Given the description of an element on the screen output the (x, y) to click on. 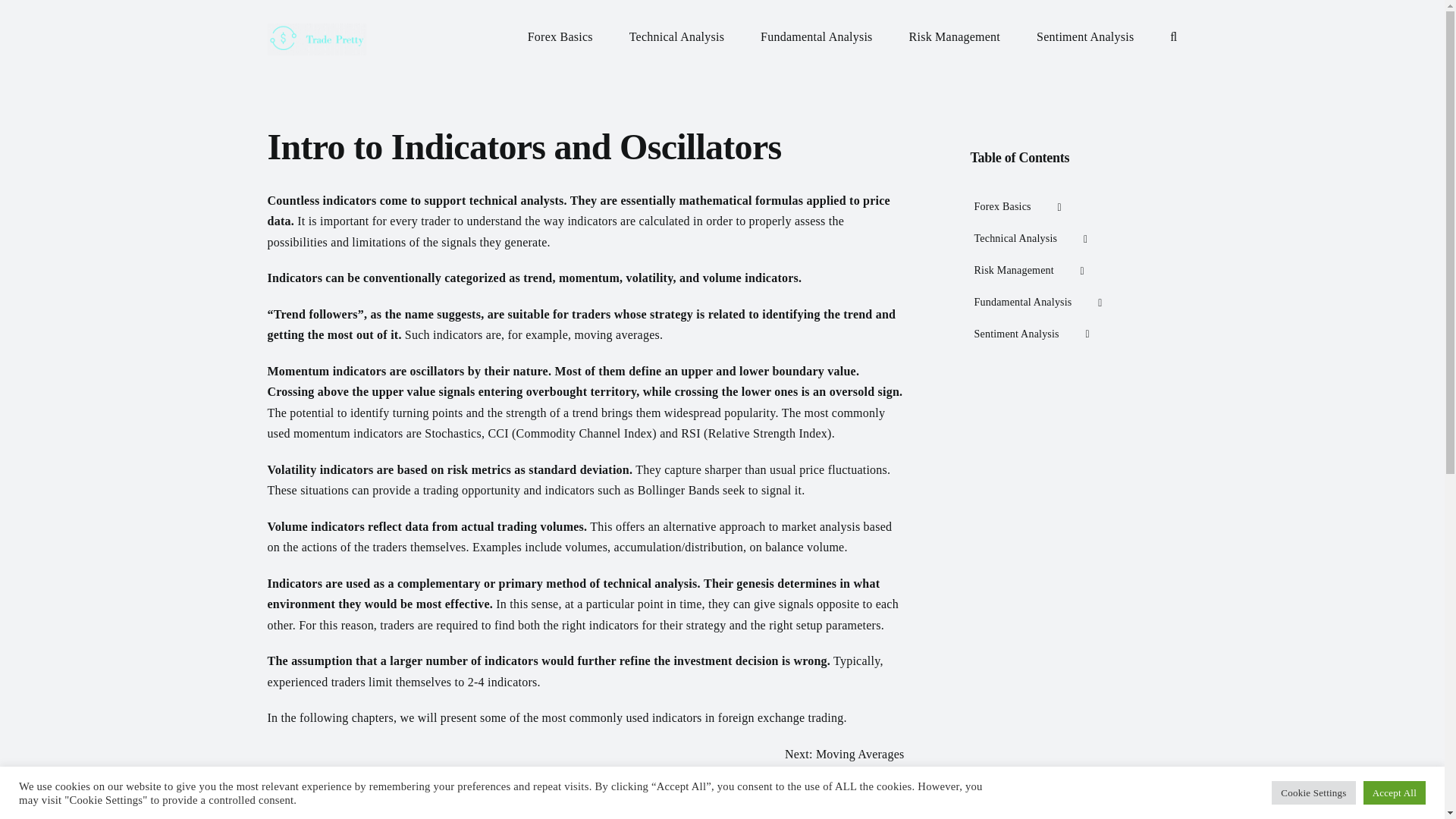
Forex Basics (559, 31)
Previous: Fibonacci (853, 789)
Sentiment Analysis (1085, 31)
Risk Management (954, 31)
Fundamental Analysis (816, 31)
Next: Moving Averages (844, 753)
Technical Analysis (675, 31)
Forex Basics (1067, 207)
Technical Analysis (1067, 239)
Technical Analysis (1067, 239)
